Given the description of an element on the screen output the (x, y) to click on. 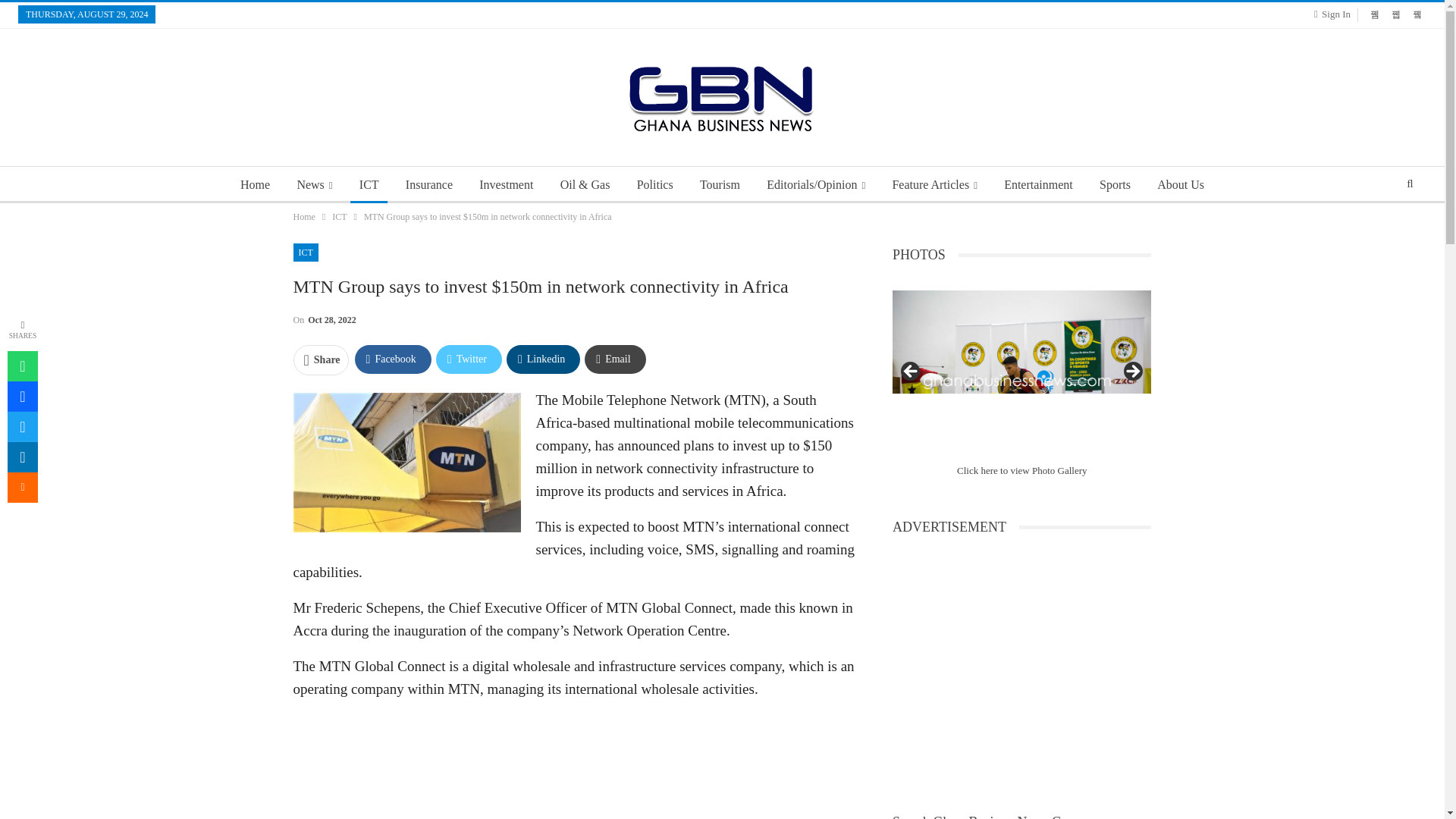
Linkedin (542, 358)
Investment (505, 185)
Politics (654, 185)
About Us (1180, 185)
Email (615, 358)
Entertainment (1037, 185)
Twitter (468, 358)
ICT (369, 185)
Home (303, 216)
Home (255, 185)
